Given the description of an element on the screen output the (x, y) to click on. 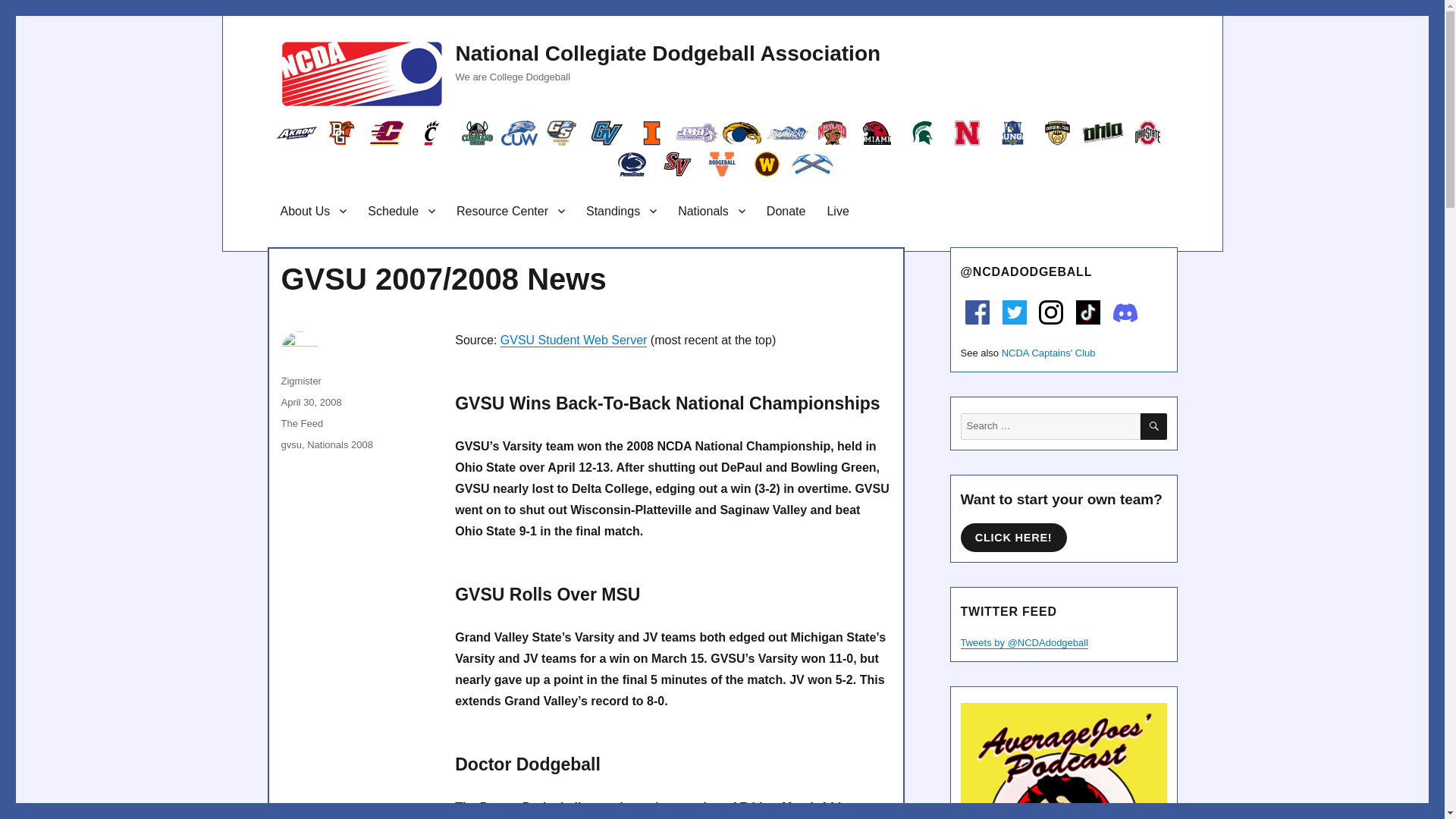
Schedule (400, 210)
About Us (313, 210)
National Collegiate Dodgeball Association (667, 53)
Average Joes' Podcast (1062, 760)
